Given the description of an element on the screen output the (x, y) to click on. 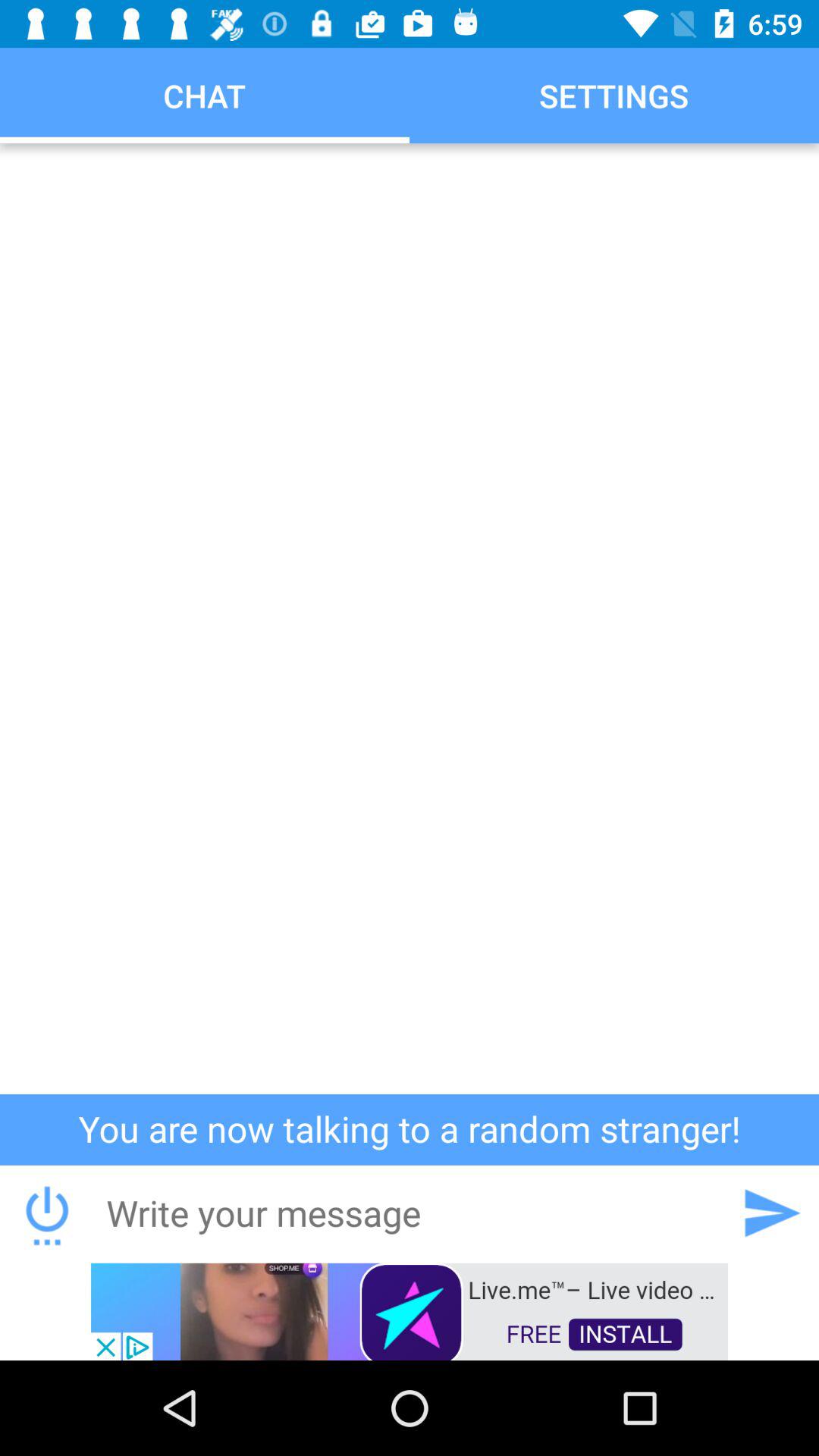
send message (771, 1212)
